Given the description of an element on the screen output the (x, y) to click on. 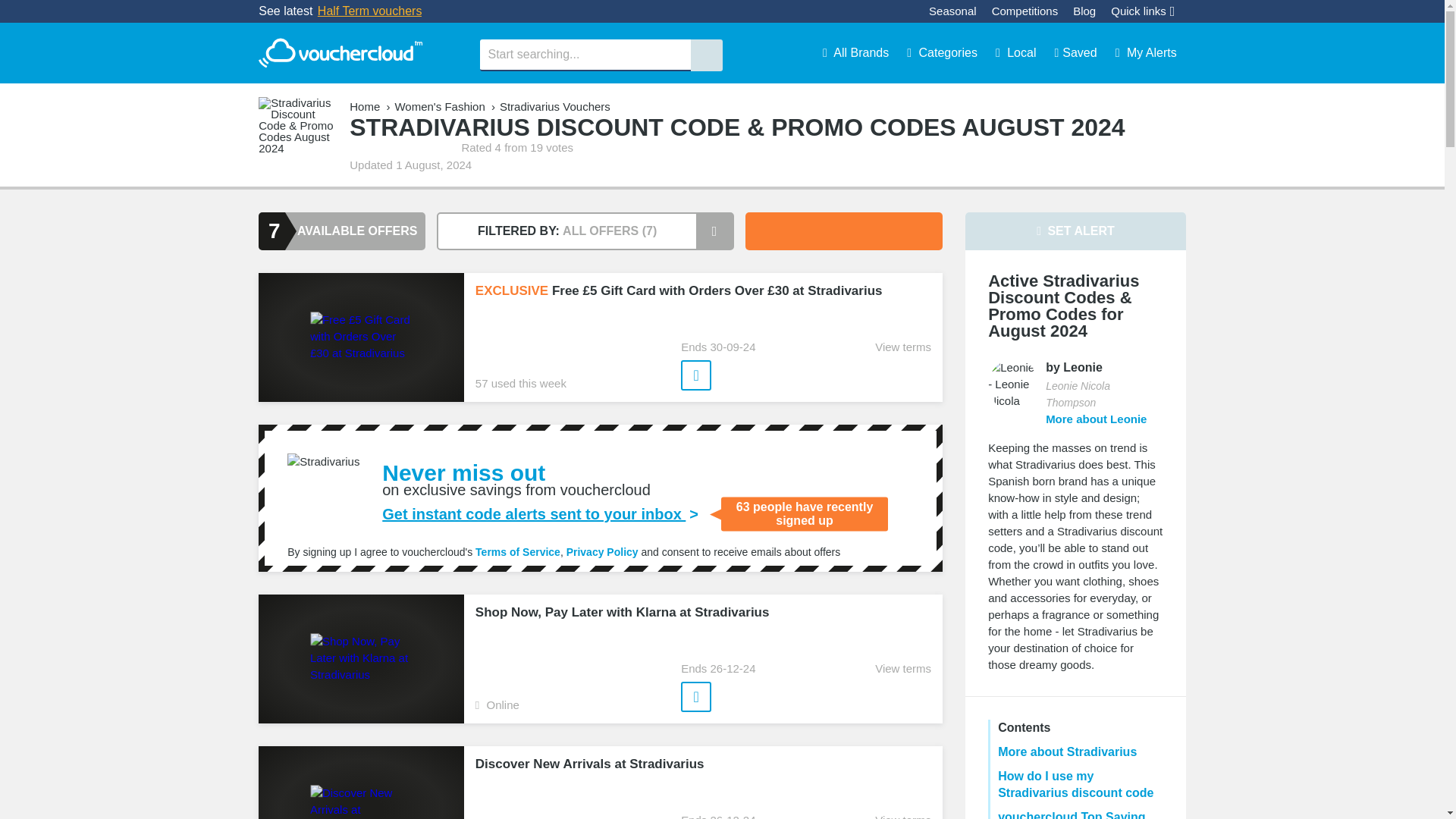
SEARCH (706, 55)
vouchercloud (340, 52)
